Given the description of an element on the screen output the (x, y) to click on. 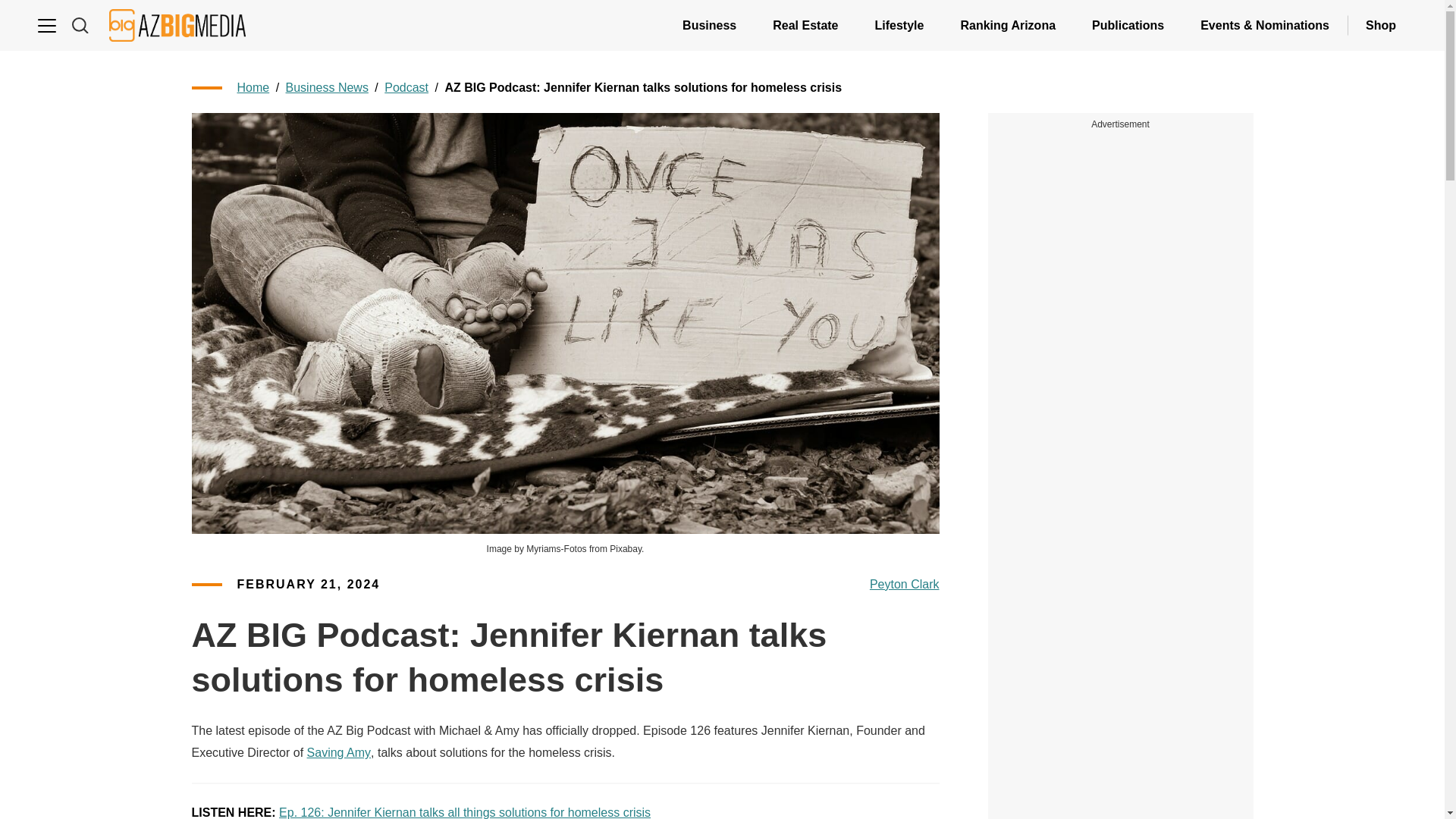
AZ Big Media Logo (177, 25)
3rd party ad content (1120, 339)
Business (708, 25)
Posts by Peyton Clark (904, 585)
